Given the description of an element on the screen output the (x, y) to click on. 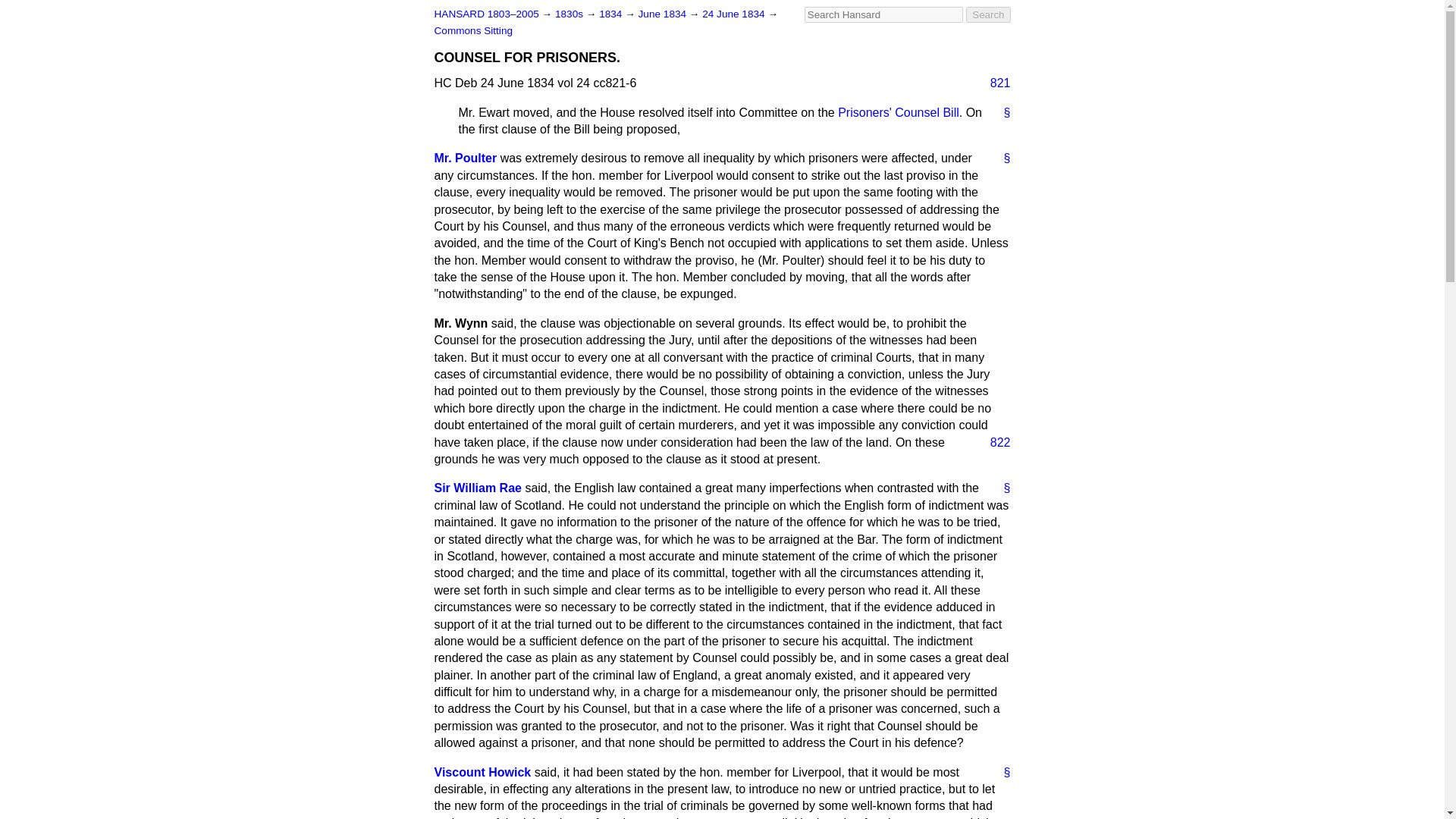
Link to this contribution (1000, 112)
821 (994, 83)
Mr. Poulter (464, 157)
Commons Sitting (472, 30)
Link to this speech by Viscount  Howick (1000, 772)
24 June 1834 (734, 13)
Search (988, 14)
Viscount Howick (482, 771)
Sir William Rae (477, 487)
Link to this speech by Sir William Rae (1000, 487)
